Given the description of an element on the screen output the (x, y) to click on. 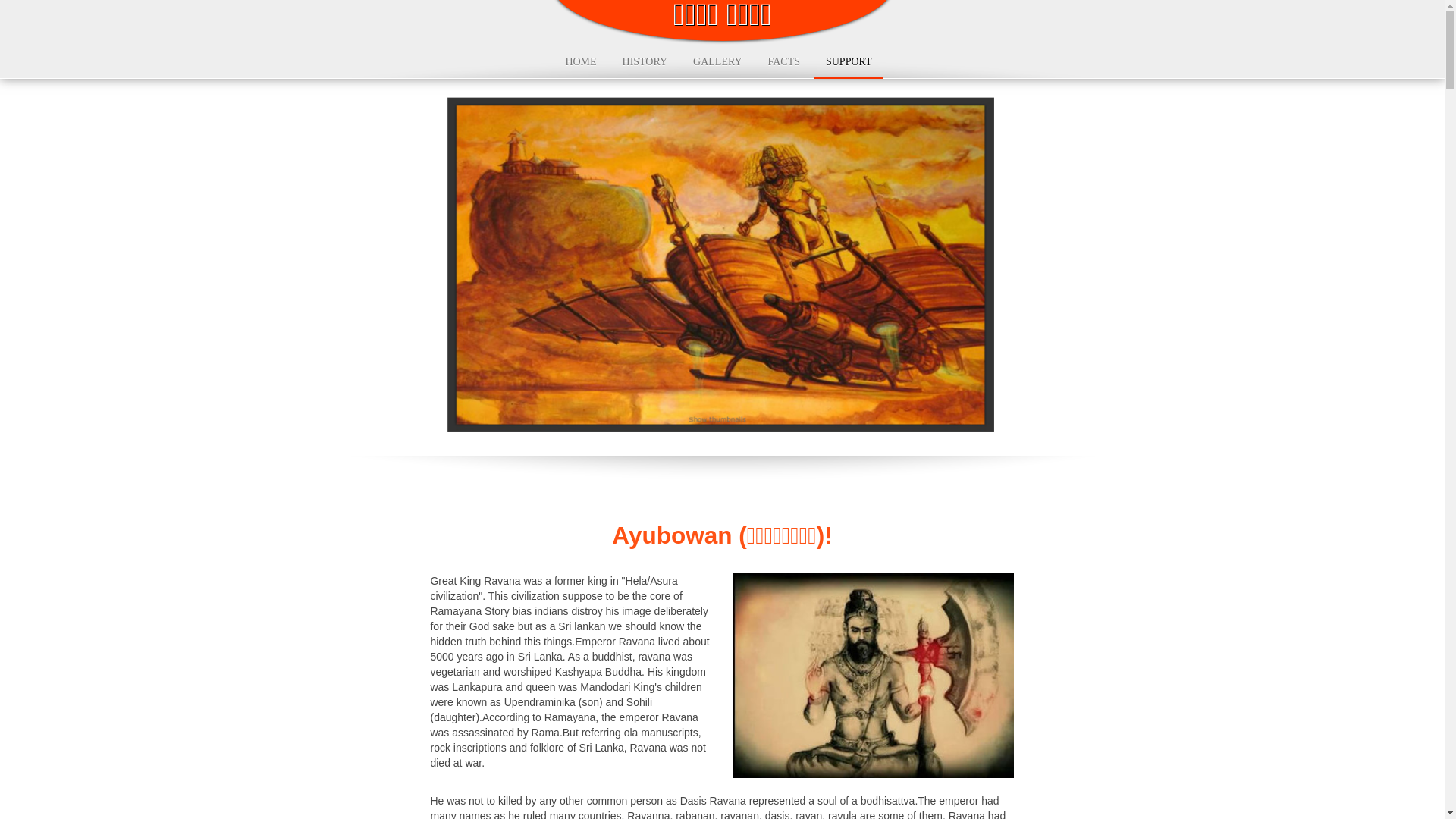
HISTORY (645, 61)
GALLERY (717, 61)
HOME (580, 61)
SUPPORT (848, 62)
FACTS (784, 61)
